Given the description of an element on the screen output the (x, y) to click on. 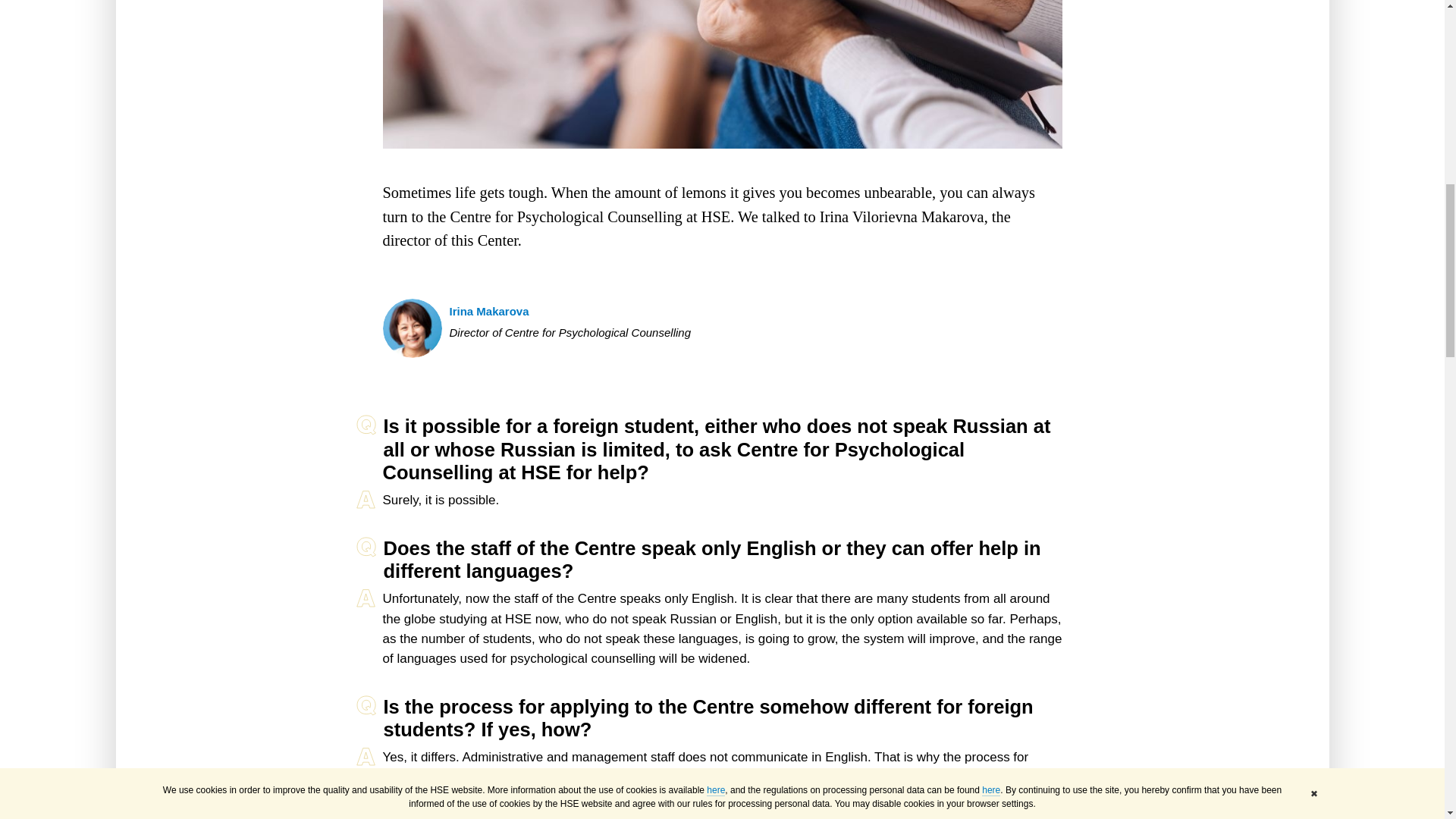
Irina Makarova (488, 310)
